Given the description of an element on the screen output the (x, y) to click on. 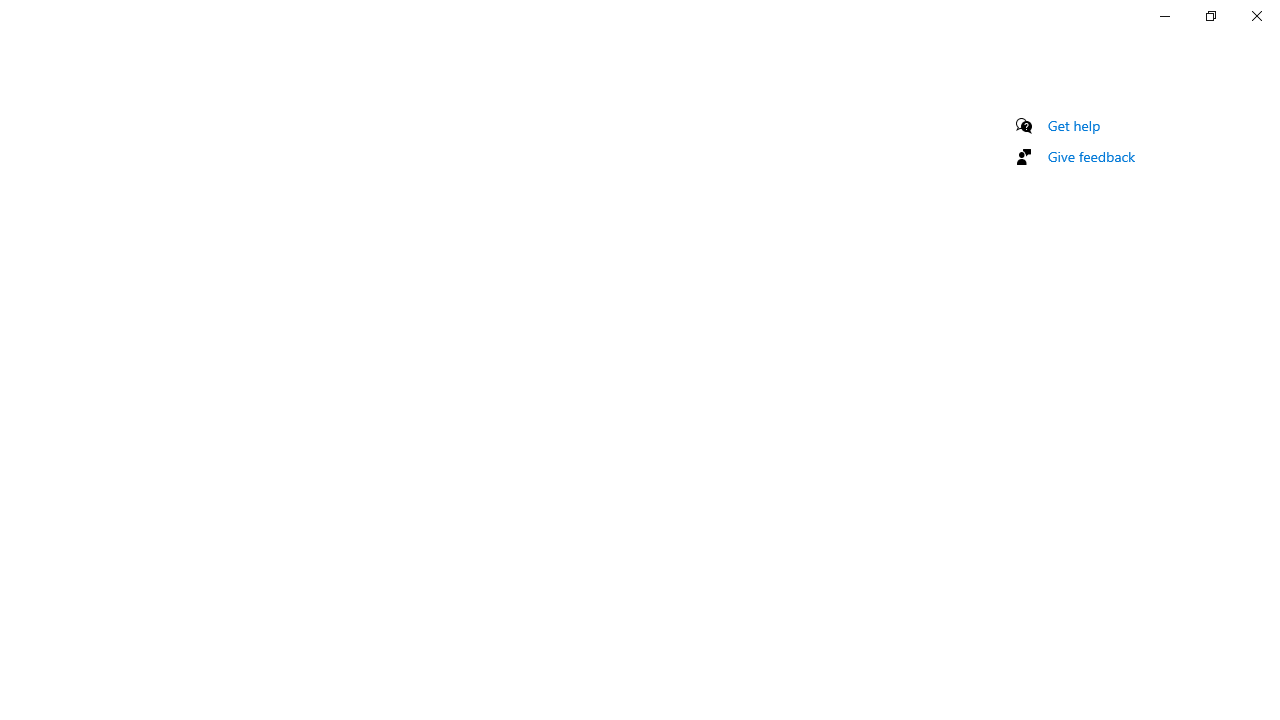
Give feedback (1091, 156)
Minimize Settings (1164, 15)
Get help (1074, 125)
Restore Settings (1210, 15)
Close Settings (1256, 15)
